Given the description of an element on the screen output the (x, y) to click on. 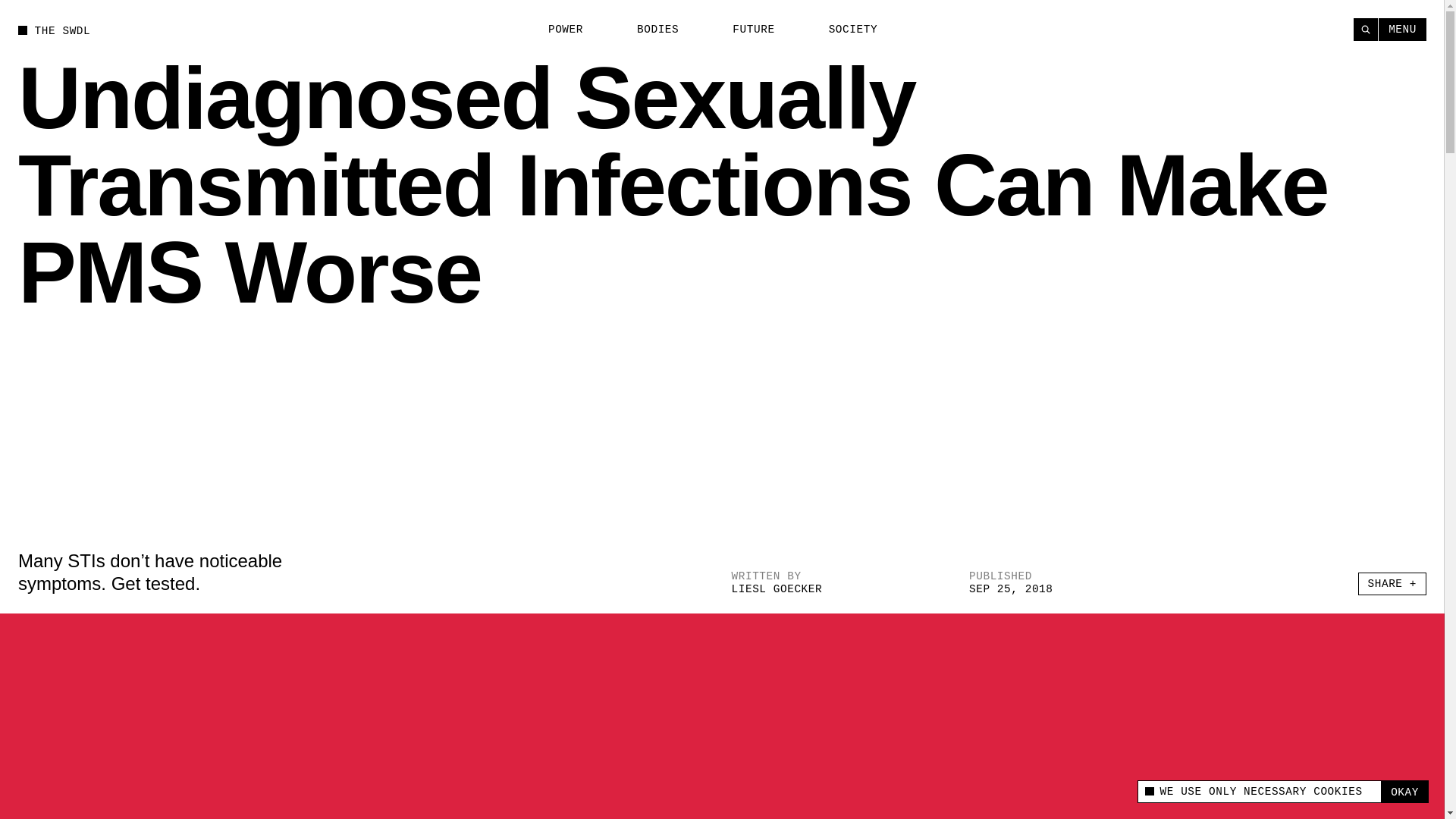
SOCIETY (843, 29)
POWER (557, 29)
LIESL GOECKER (776, 589)
OKAY (1404, 791)
WE USE ONLY NECESSARY COOKIES (1259, 791)
FUTURE (744, 29)
BODIES (649, 29)
MENU (1402, 29)
THE SWDL (53, 29)
